Given the description of an element on the screen output the (x, y) to click on. 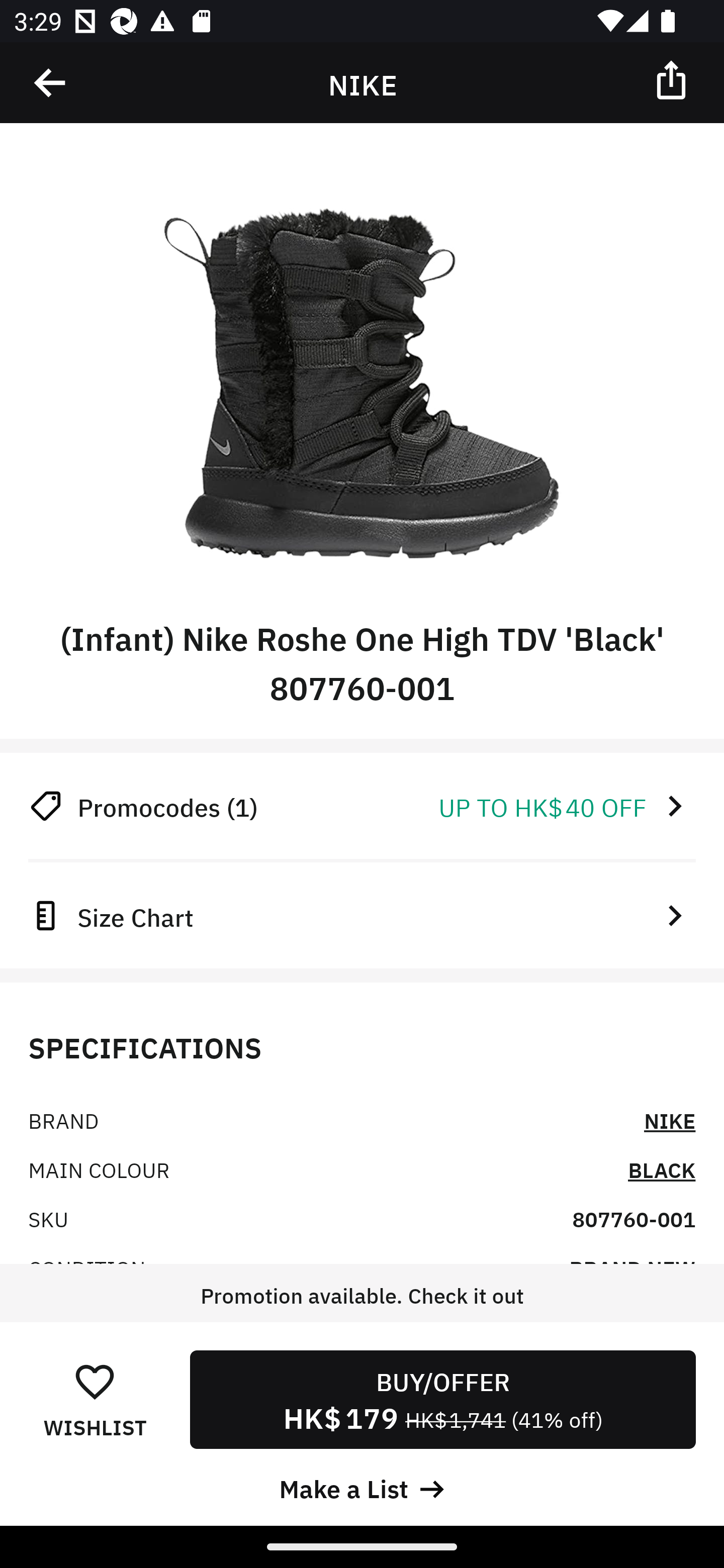
 (50, 83)
 (672, 79)
Promocodes (1) UP TO HK$ 40 OFF  (361, 805)
Size Chart  (361, 914)
NIKE (669, 1119)
BLACK (661, 1168)
807760-001 (633, 1218)
BUY/OFFER HK$ 179 HK$ 1,741 (41% off) (442, 1399)
󰋕 (94, 1380)
Make a List (361, 1486)
